Given the description of an element on the screen output the (x, y) to click on. 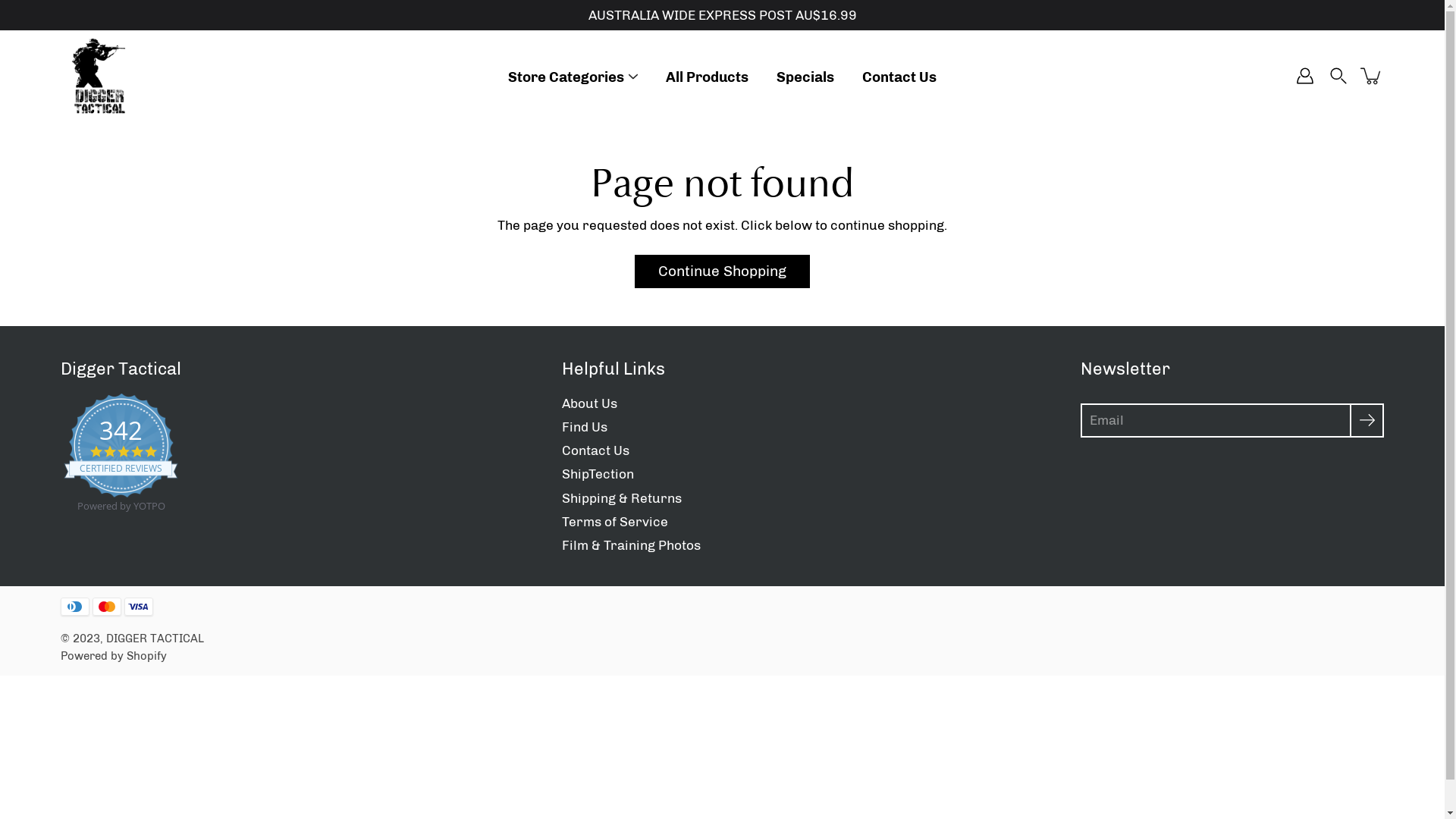
Contact Us Element type: text (594, 450)
Continue Shopping Element type: text (721, 271)
Specials Element type: text (805, 76)
Store Categories Element type: text (566, 76)
ShipTection Element type: text (597, 473)
Powered by Shopify Element type: text (113, 655)
Shipping & Returns Element type: text (620, 497)
DIGGER TACTICAL Element type: text (154, 638)
Terms of Service Element type: text (614, 521)
About Us Element type: text (588, 403)
Film & Training Photos Element type: text (630, 544)
All Products Element type: text (706, 76)
Contact Us Element type: text (899, 76)
Find Us Element type: text (583, 426)
